Given the description of an element on the screen output the (x, y) to click on. 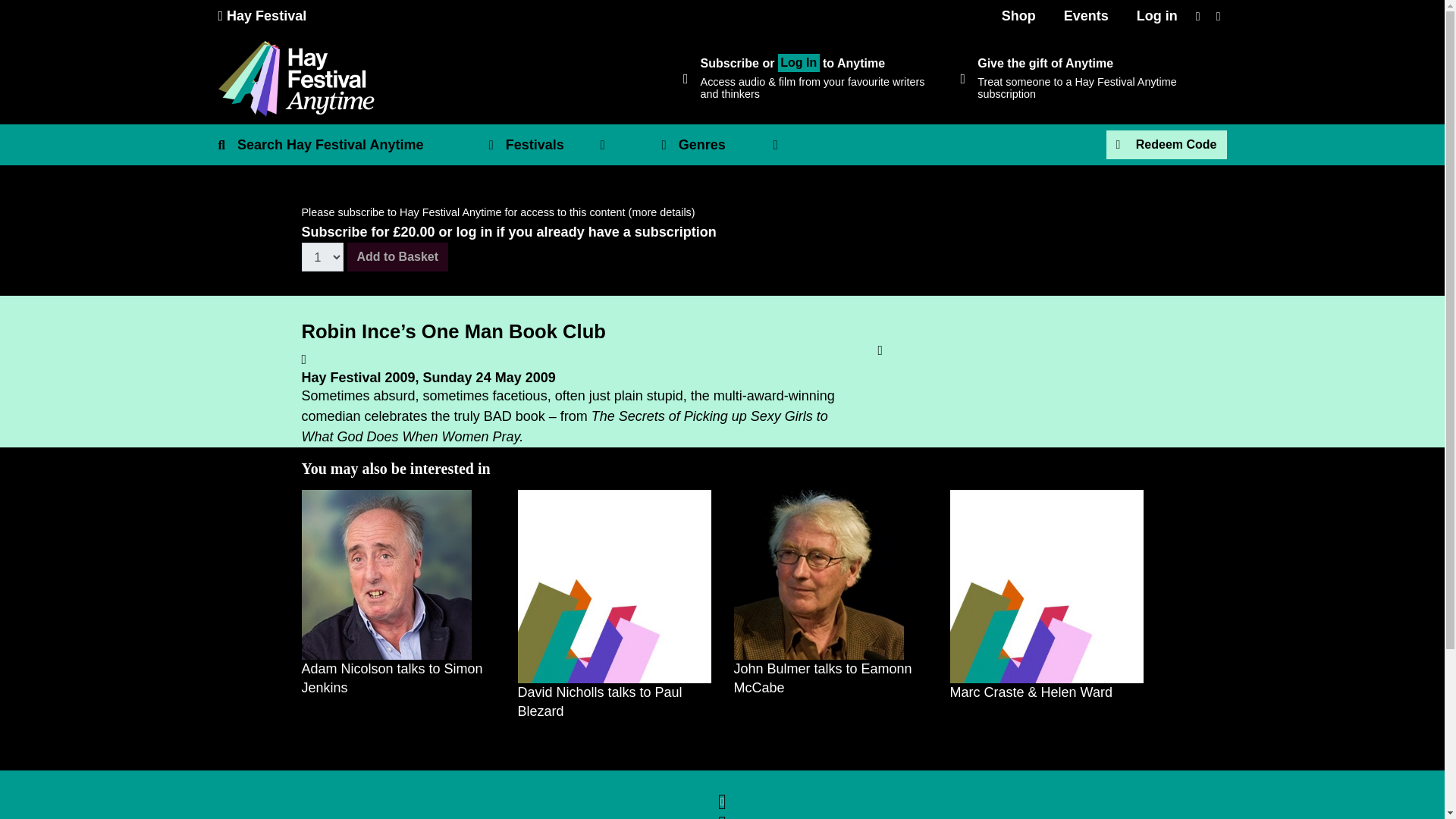
David Nicholls talks to Paul Blezard (613, 586)
John Bulmer talks to Eamonn McCabe (818, 574)
Subscribe (729, 62)
Hay Festival (262, 15)
Adam Nicolson talks to Simon Jenkins (386, 574)
Shop (1019, 15)
Log in (1156, 15)
Add to Basket (397, 256)
Events (1086, 15)
Twitter (721, 812)
Festivals (555, 145)
Genres (728, 145)
Log In (798, 63)
Facebook (721, 795)
